Given the description of an element on the screen output the (x, y) to click on. 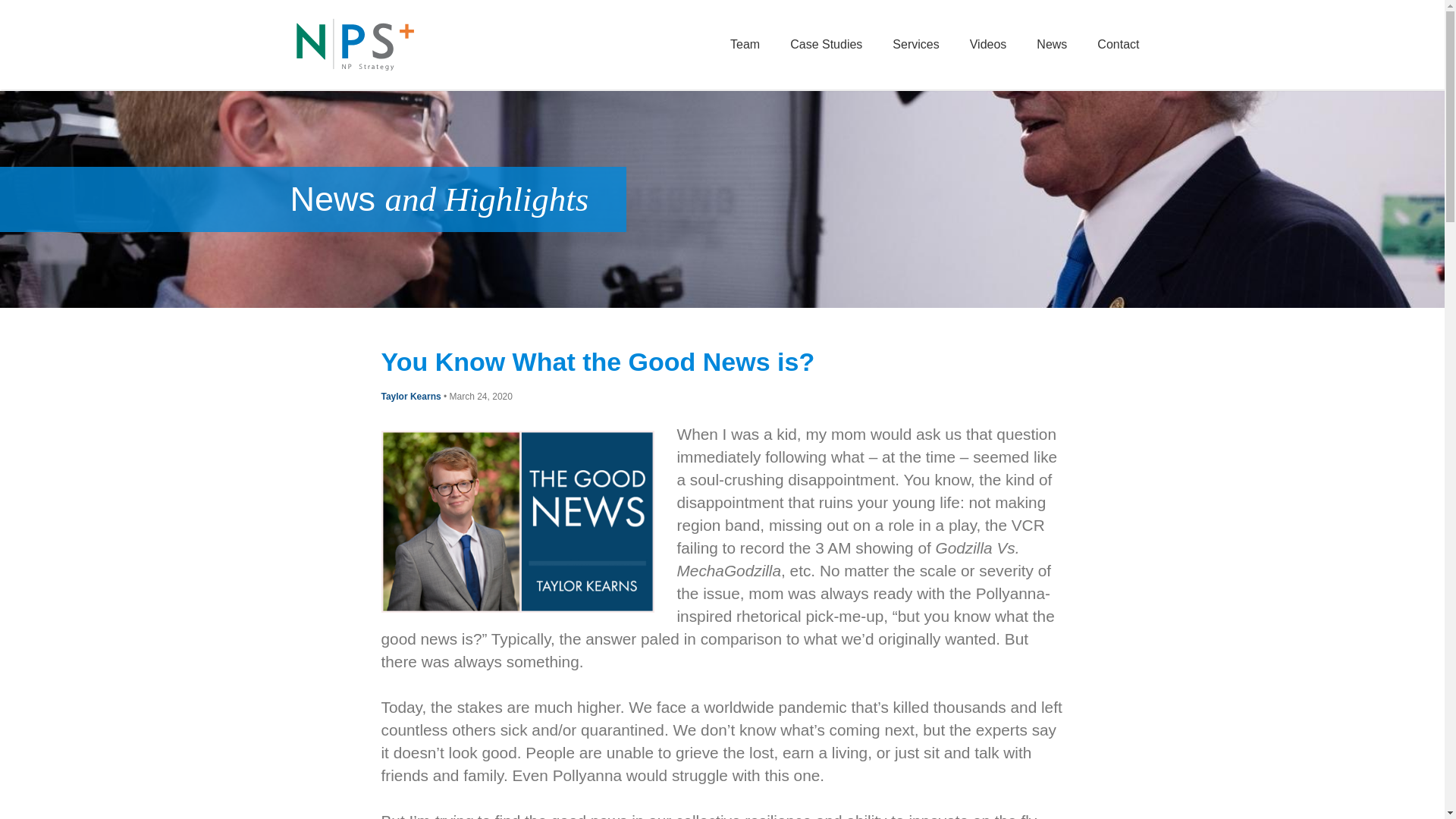
NPS (354, 44)
Case Studies (825, 44)
Taylor Kearns (410, 396)
